Given the description of an element on the screen output the (x, y) to click on. 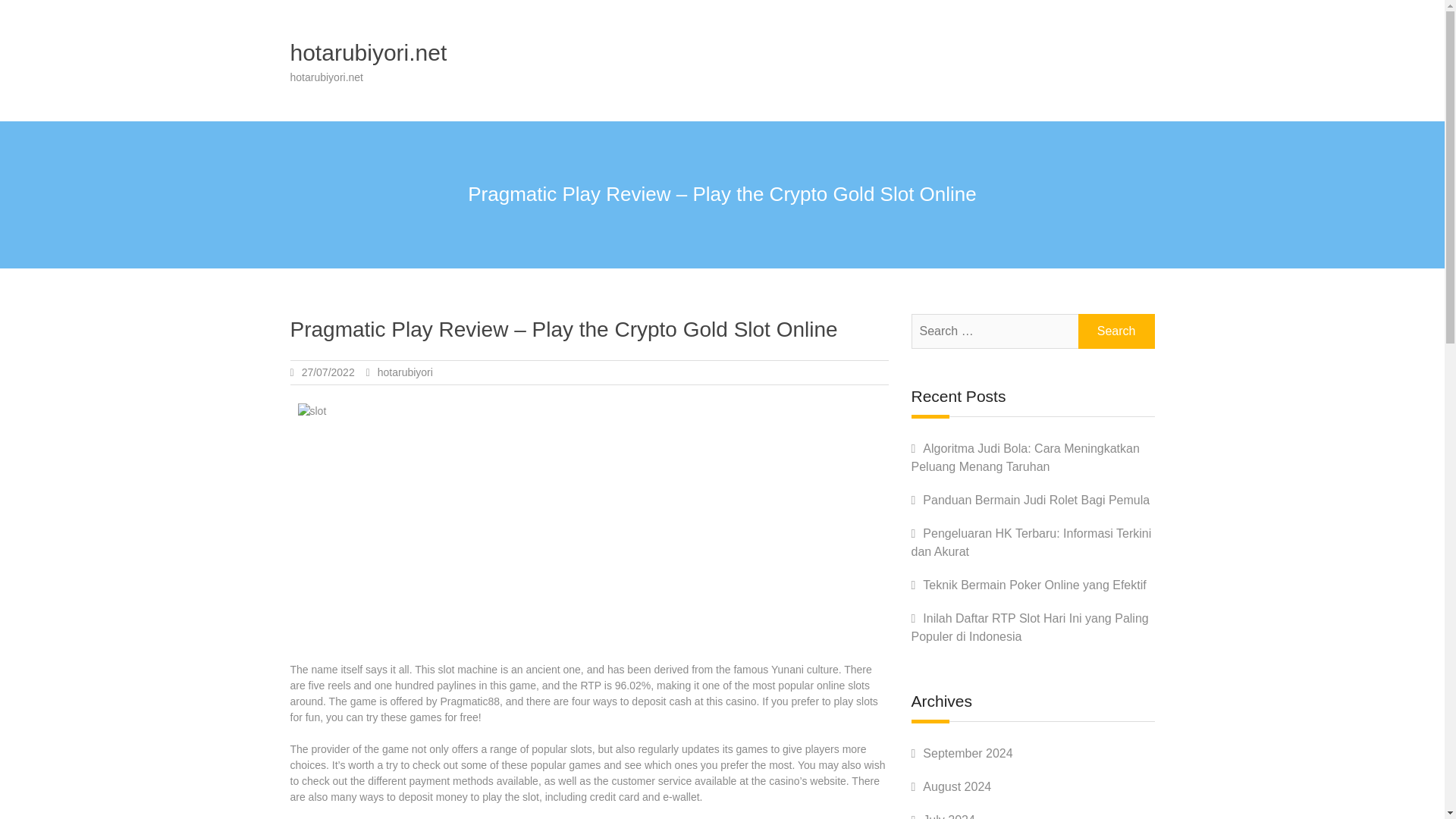
hotarubiyori (404, 372)
July 2024 (949, 816)
Search (1116, 330)
Panduan Bermain Judi Rolet Bagi Pemula (1036, 499)
September 2024 (967, 753)
Teknik Bermain Poker Online yang Efektif (1034, 584)
August 2024 (957, 786)
Search (1116, 330)
hotarubiyori.net (367, 52)
